Given the description of an element on the screen output the (x, y) to click on. 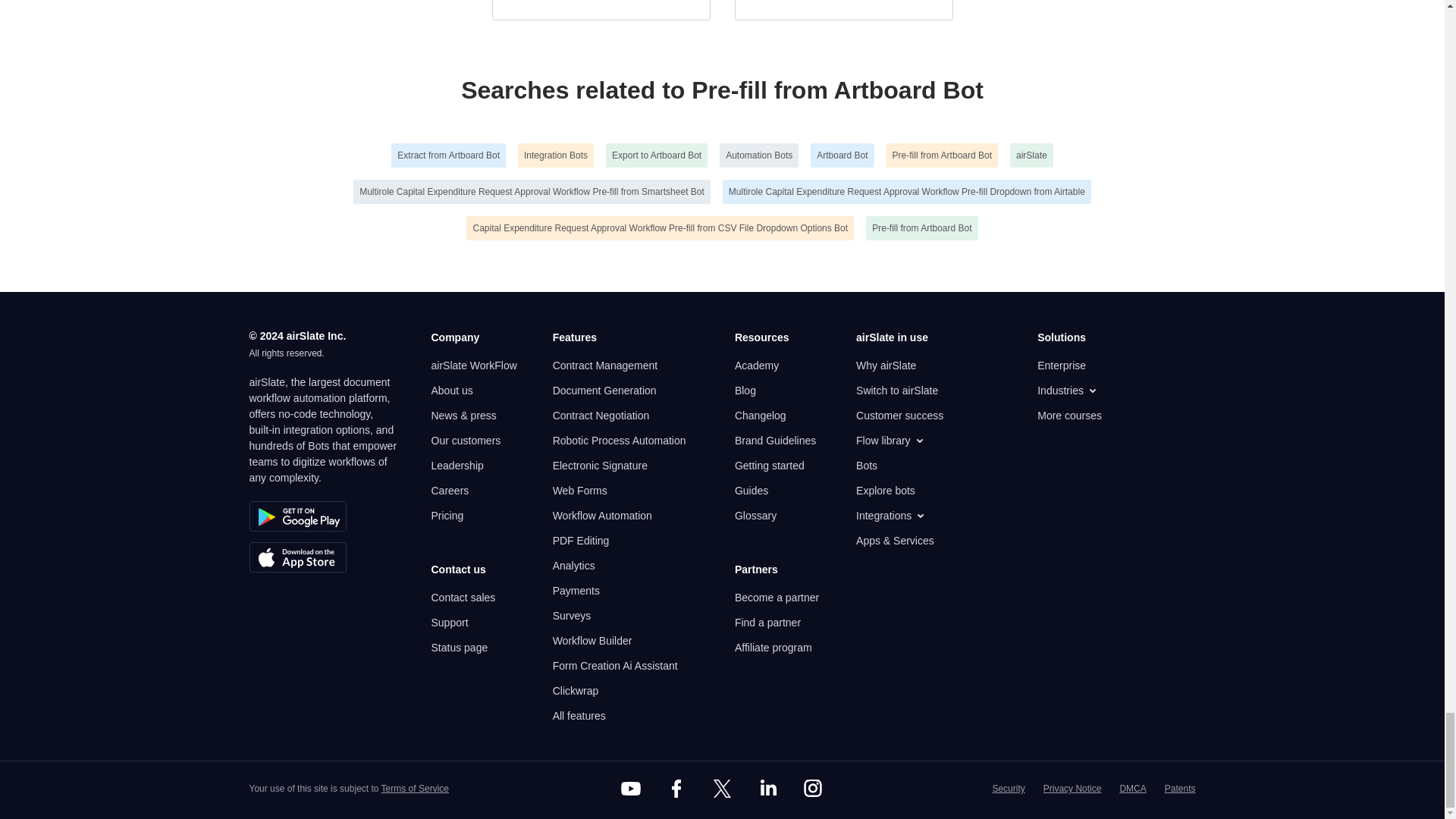
YouTube (630, 788)
Facebook (676, 788)
Instagram (812, 788)
Twitter (721, 788)
LinkedIn (767, 788)
